Given the description of an element on the screen output the (x, y) to click on. 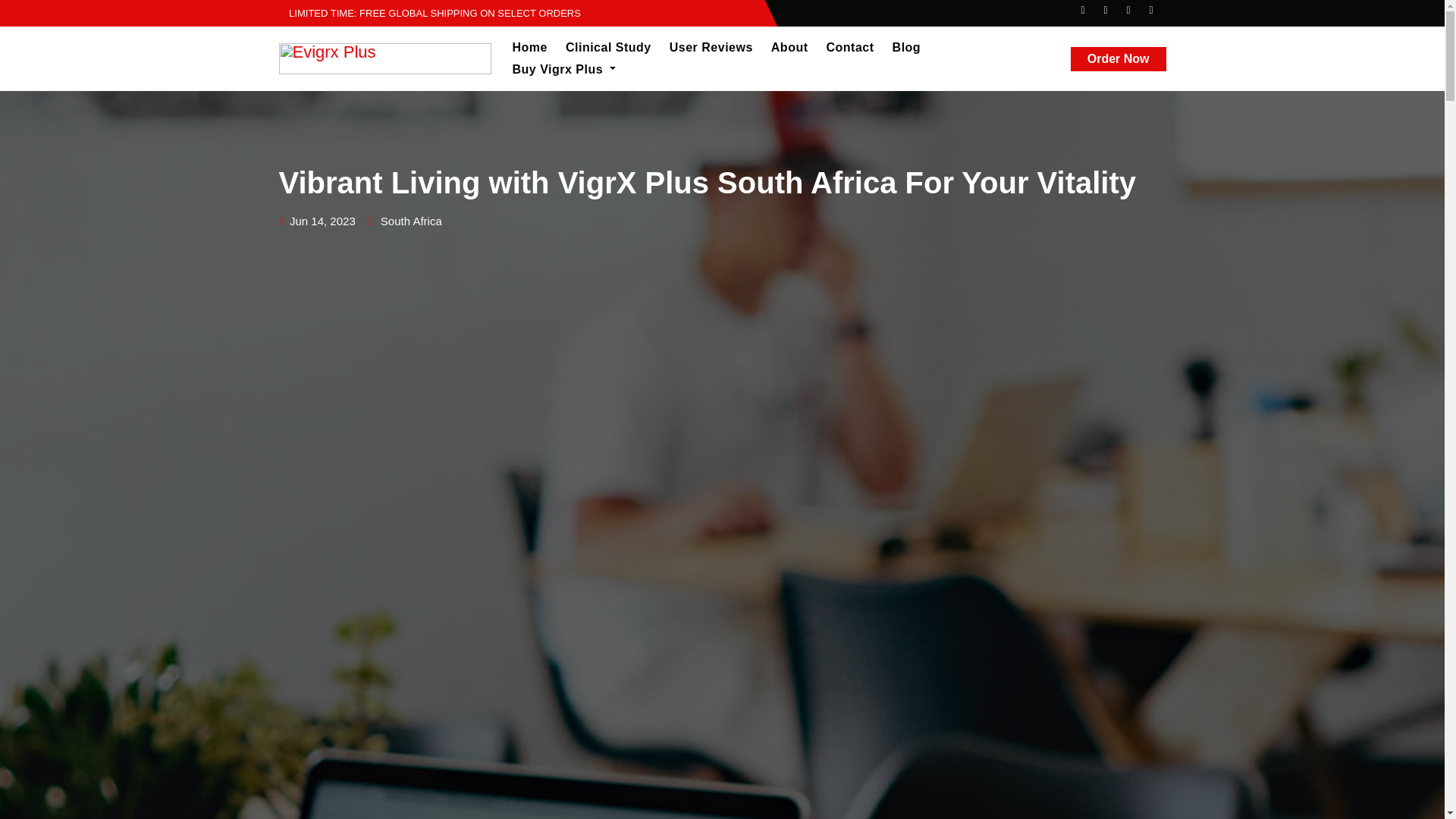
Home (529, 47)
About (788, 47)
Order Now (1118, 58)
About (788, 47)
Contact (849, 47)
Buy Vigrx Plus (564, 69)
LIMITED TIME: FREE GLOBAL SHIPPING ON SELECT ORDERS (429, 12)
South Africa (411, 221)
Clinical Study (608, 47)
Buy Vigrx Plus (564, 69)
User Reviews (711, 47)
User Reviews (711, 47)
Clinical Study (608, 47)
Blog (906, 47)
Home (529, 47)
